Given the description of an element on the screen output the (x, y) to click on. 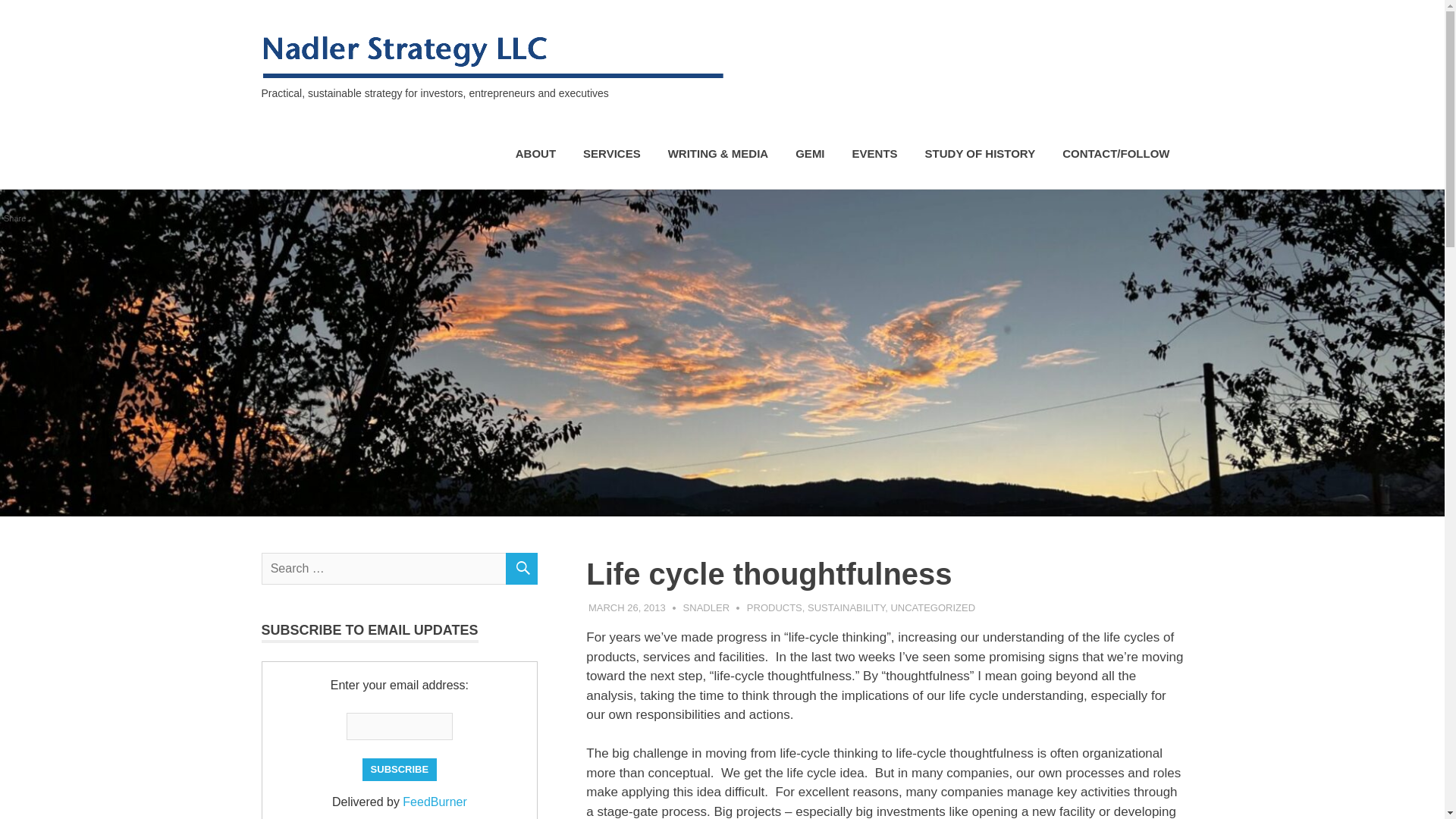
SNADLER (705, 607)
Subscribe (398, 769)
GEMI (809, 153)
FeedBurner (435, 801)
View all posts by snadler (705, 607)
MARCH 26, 2013 (626, 607)
SUSTAINABILITY (846, 607)
UNCATEGORIZED (932, 607)
Subscribe (398, 769)
PRODUCTS (774, 607)
Search for: (398, 568)
7:45 pm (626, 607)
SERVICES (611, 153)
EVENTS (874, 153)
